Given the description of an element on the screen output the (x, y) to click on. 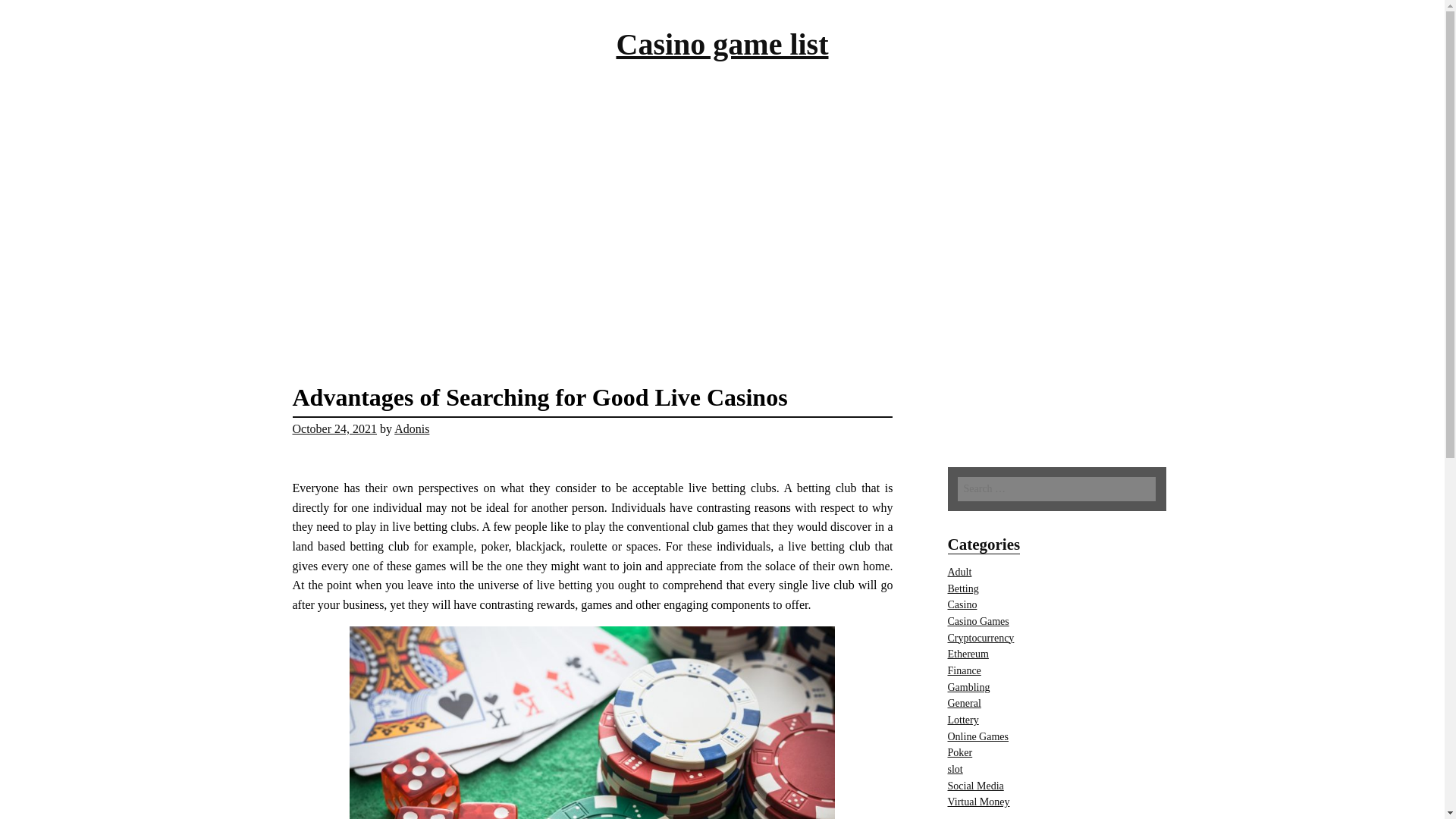
Virtual Money (978, 801)
Gambling (968, 686)
Poker (959, 752)
October 24, 2021 (334, 428)
Ethereum (967, 654)
General (964, 703)
Cryptocurrency (980, 637)
Betting (962, 588)
Lottery (962, 719)
Social Media (975, 785)
